Given the description of an element on the screen output the (x, y) to click on. 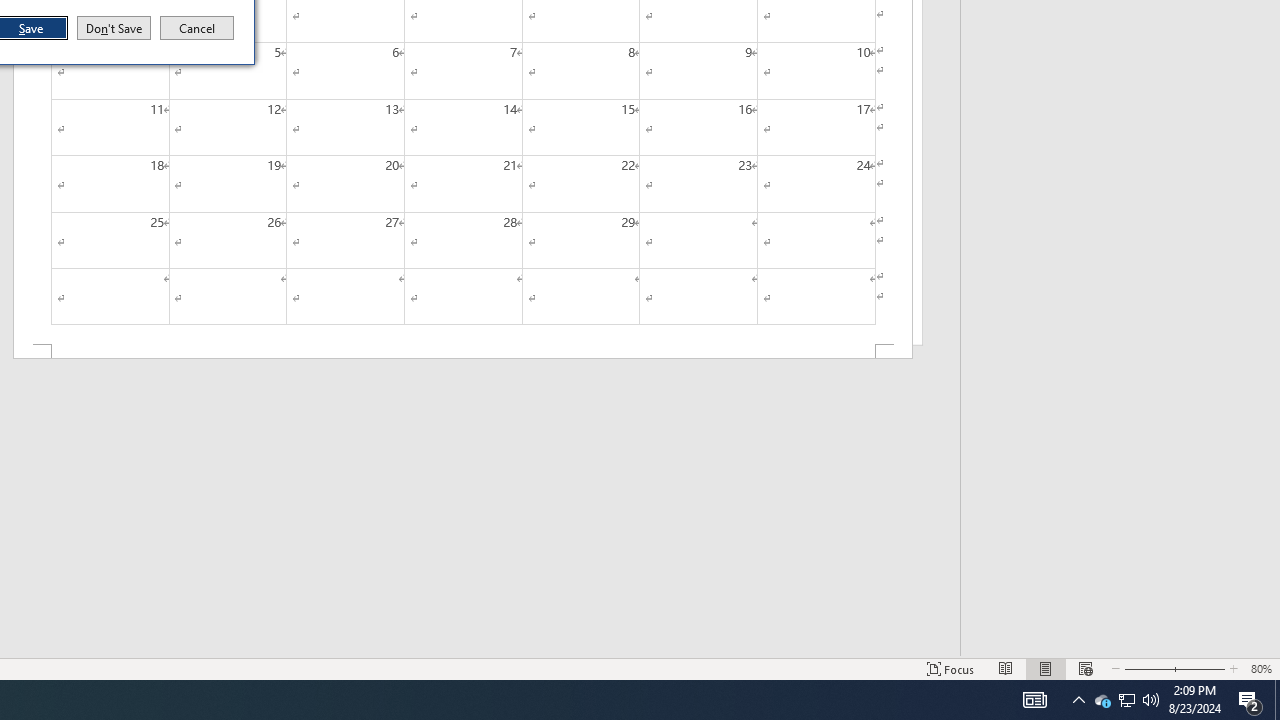
Zoom Out (1143, 668)
Don't Save (113, 27)
User Promoted Notification Area (1126, 699)
Footer -Section 2- (462, 351)
Focus  (951, 668)
Show desktop (1277, 699)
